Given the description of an element on the screen output the (x, y) to click on. 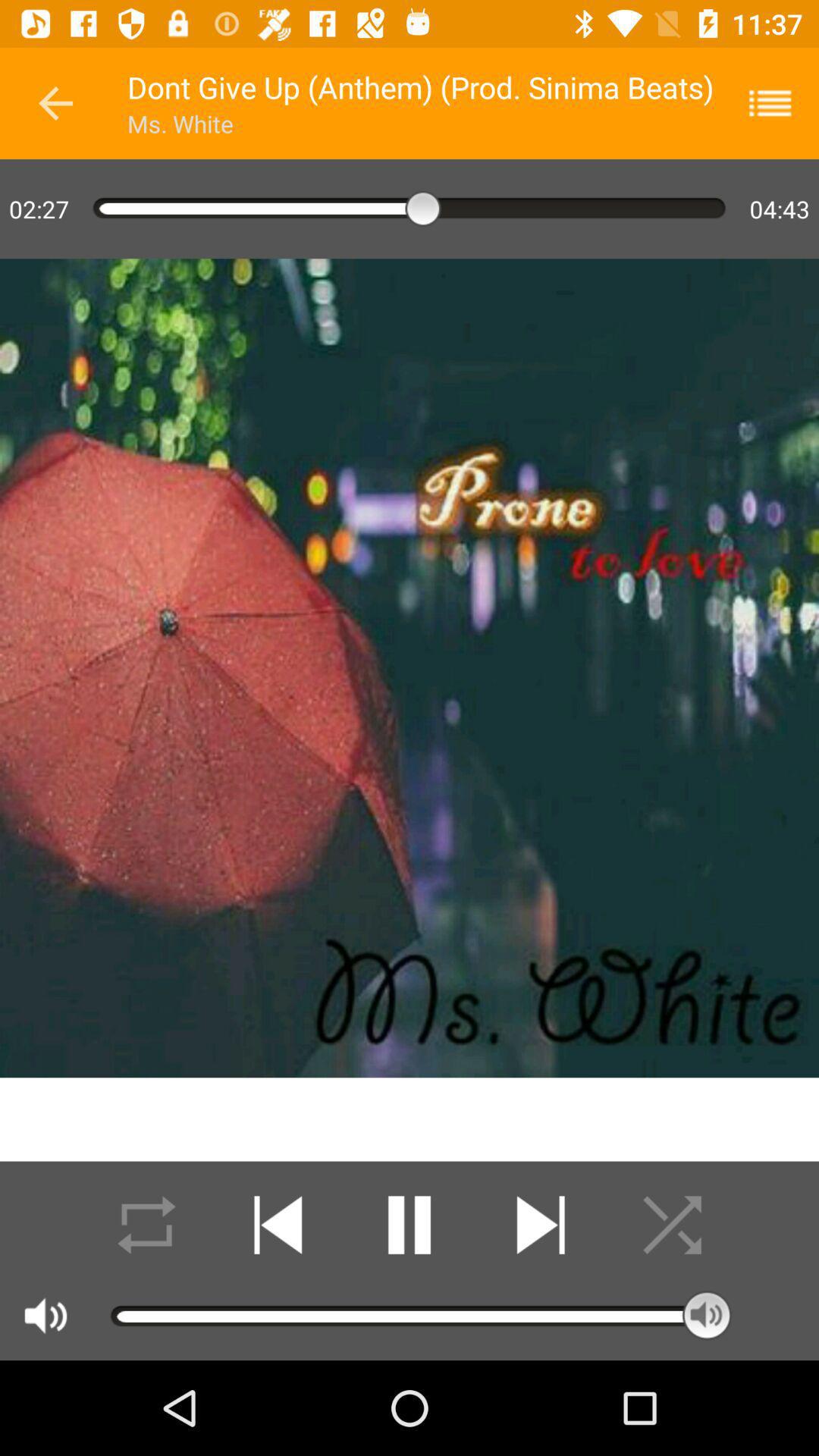
randomize playlist (672, 1224)
